Given the description of an element on the screen output the (x, y) to click on. 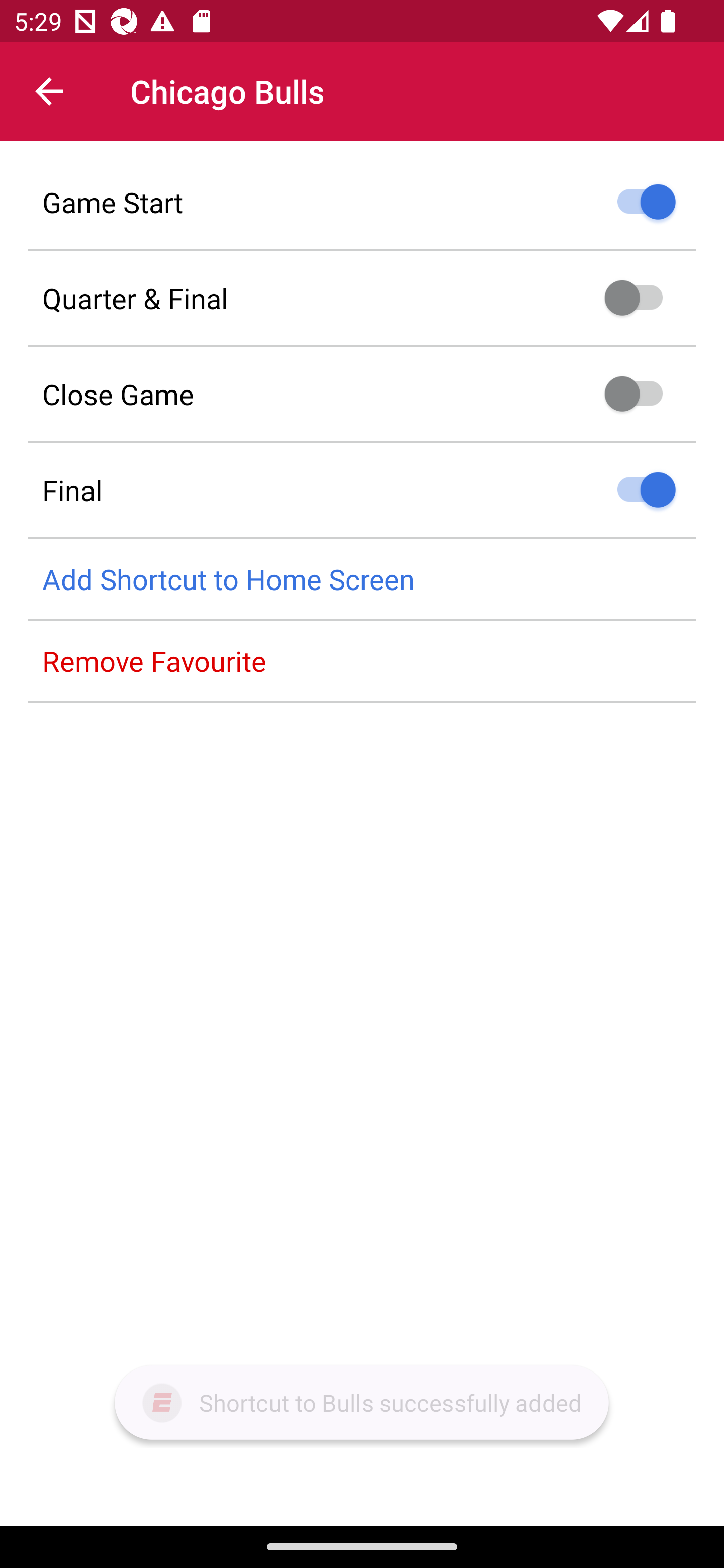
Navigate up (49, 91)
Add Shortcut to Home Screen (362, 579)
Remove Favourite (362, 661)
